Given the description of an element on the screen output the (x, y) to click on. 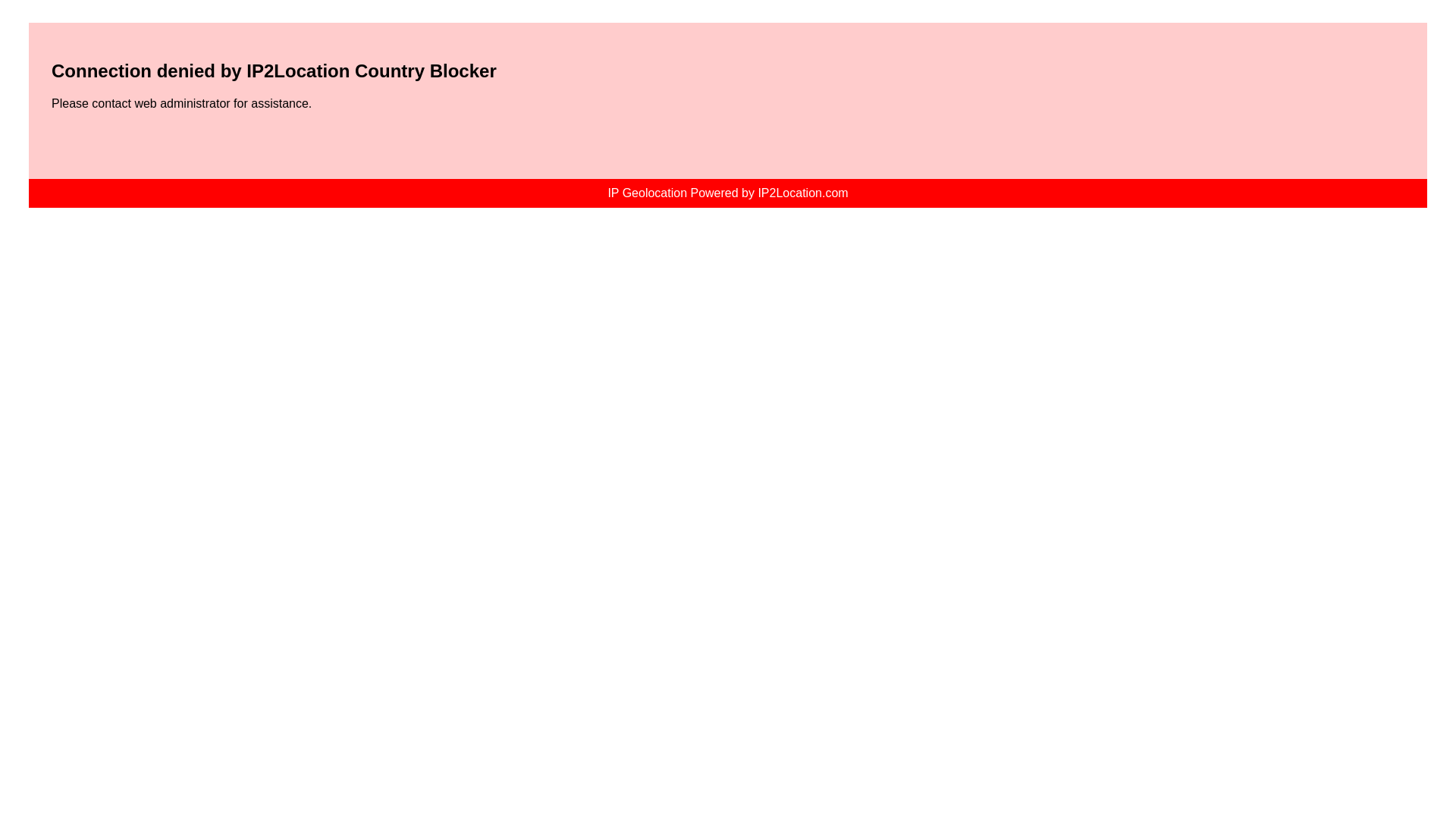
IP Geolocation Powered by IP2Location.com (727, 192)
